Given the description of an element on the screen output the (x, y) to click on. 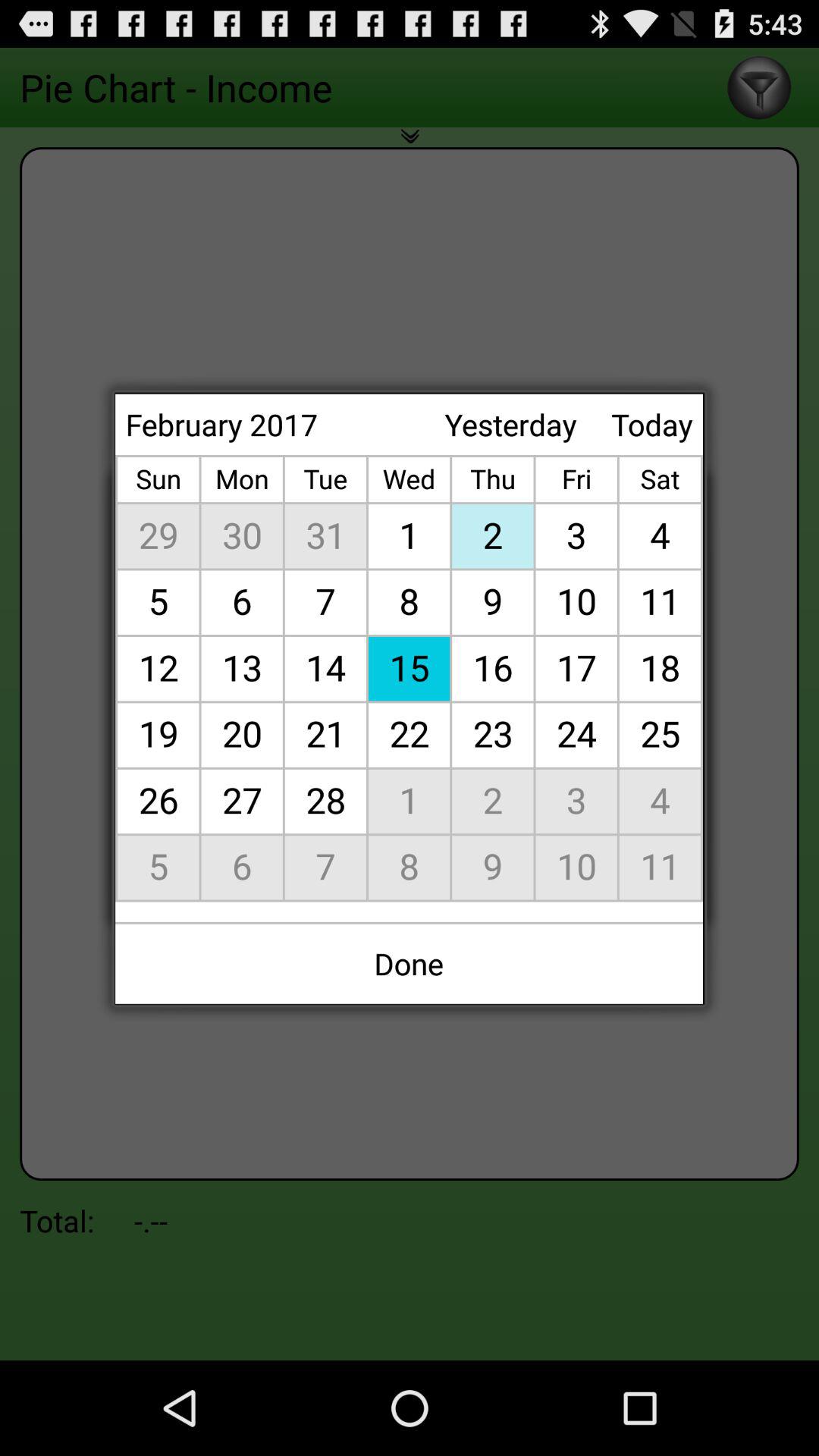
turn on the yesterday at the top (510, 424)
